Given the description of an element on the screen output the (x, y) to click on. 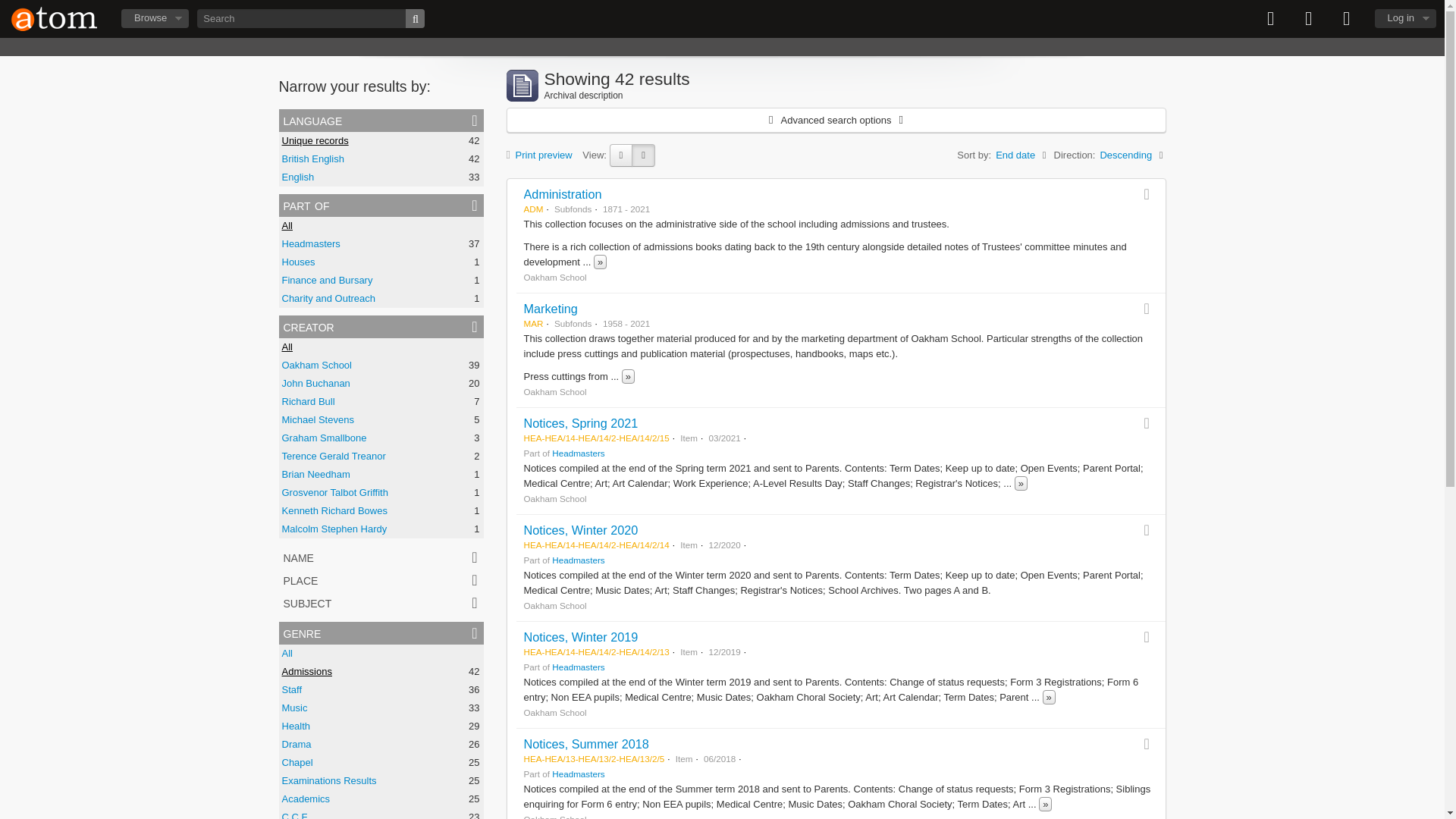
Language (1308, 18)
All (287, 225)
part of (381, 205)
Headmasters (311, 243)
Finance and Bursary (327, 279)
British English (312, 158)
Browse (154, 18)
language (381, 119)
Log in (1404, 18)
English (298, 176)
Clipboard (1271, 18)
Quick links (1346, 18)
Houses (298, 261)
Unique records (315, 140)
